Given the description of an element on the screen output the (x, y) to click on. 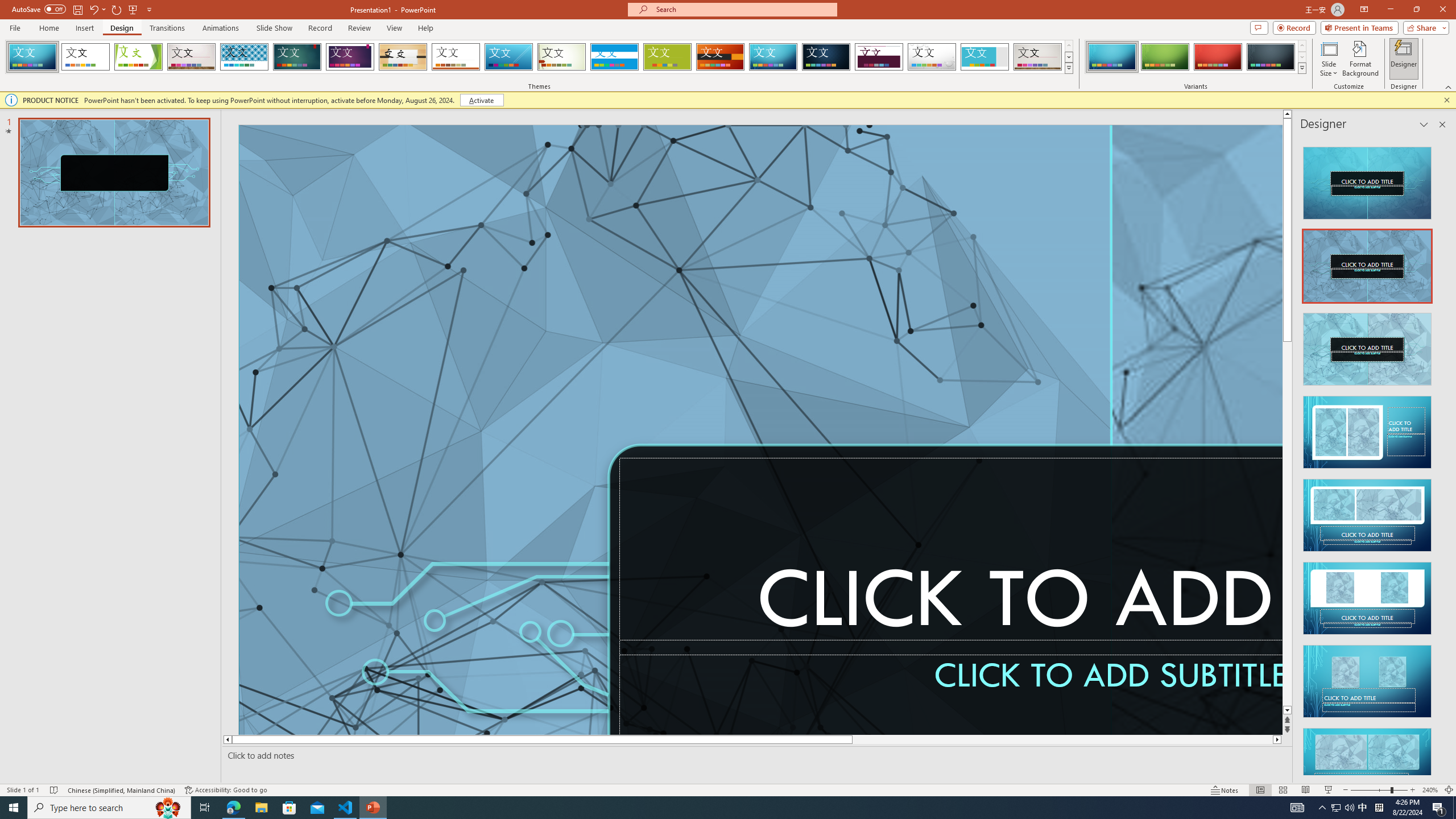
Banded (614, 56)
